Given the description of an element on the screen output the (x, y) to click on. 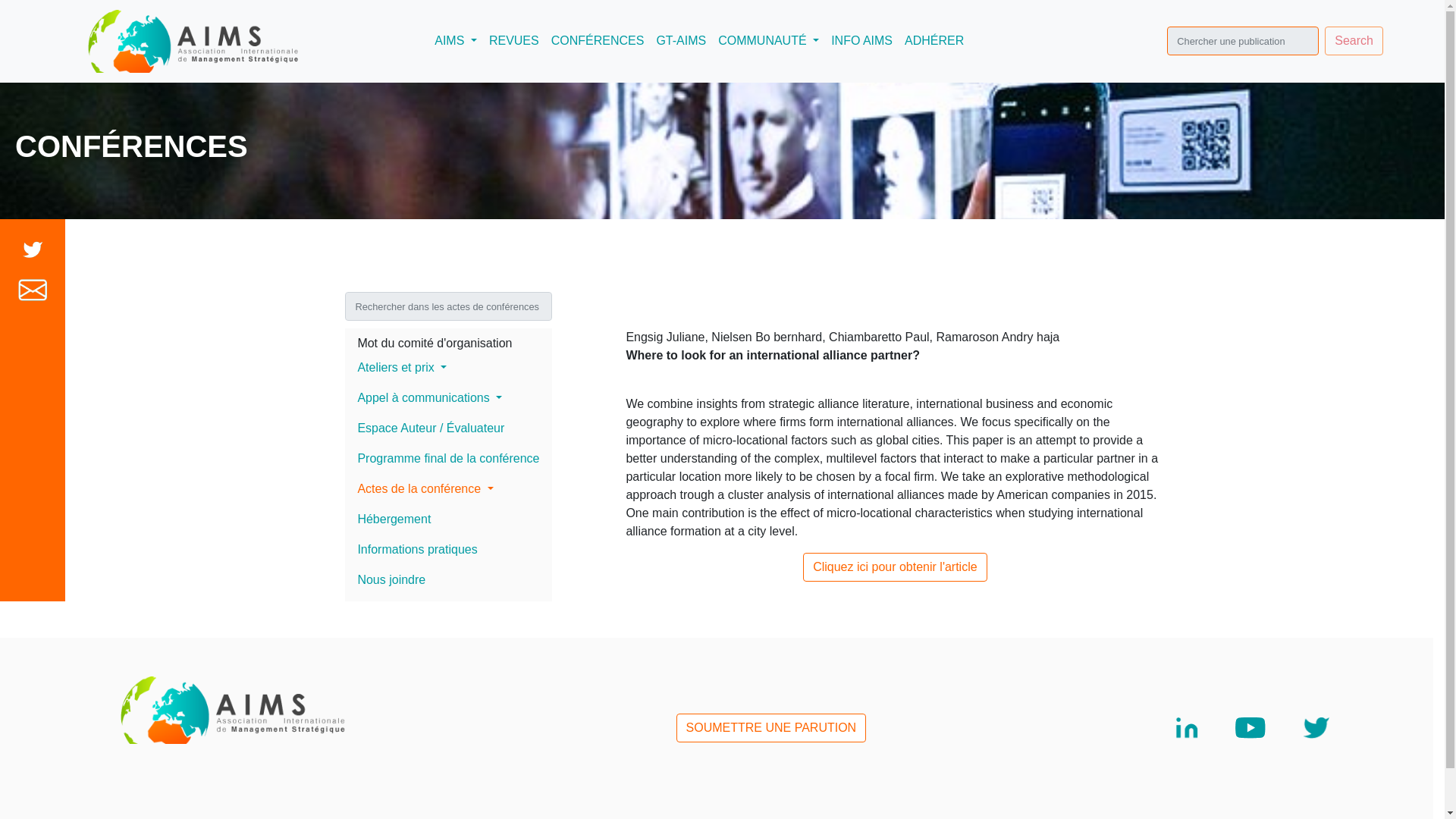
Search (1353, 40)
INFO AIMS (861, 40)
Ateliers et prix (447, 367)
REVUES (513, 40)
GT-AIMS (680, 40)
